Given the description of an element on the screen output the (x, y) to click on. 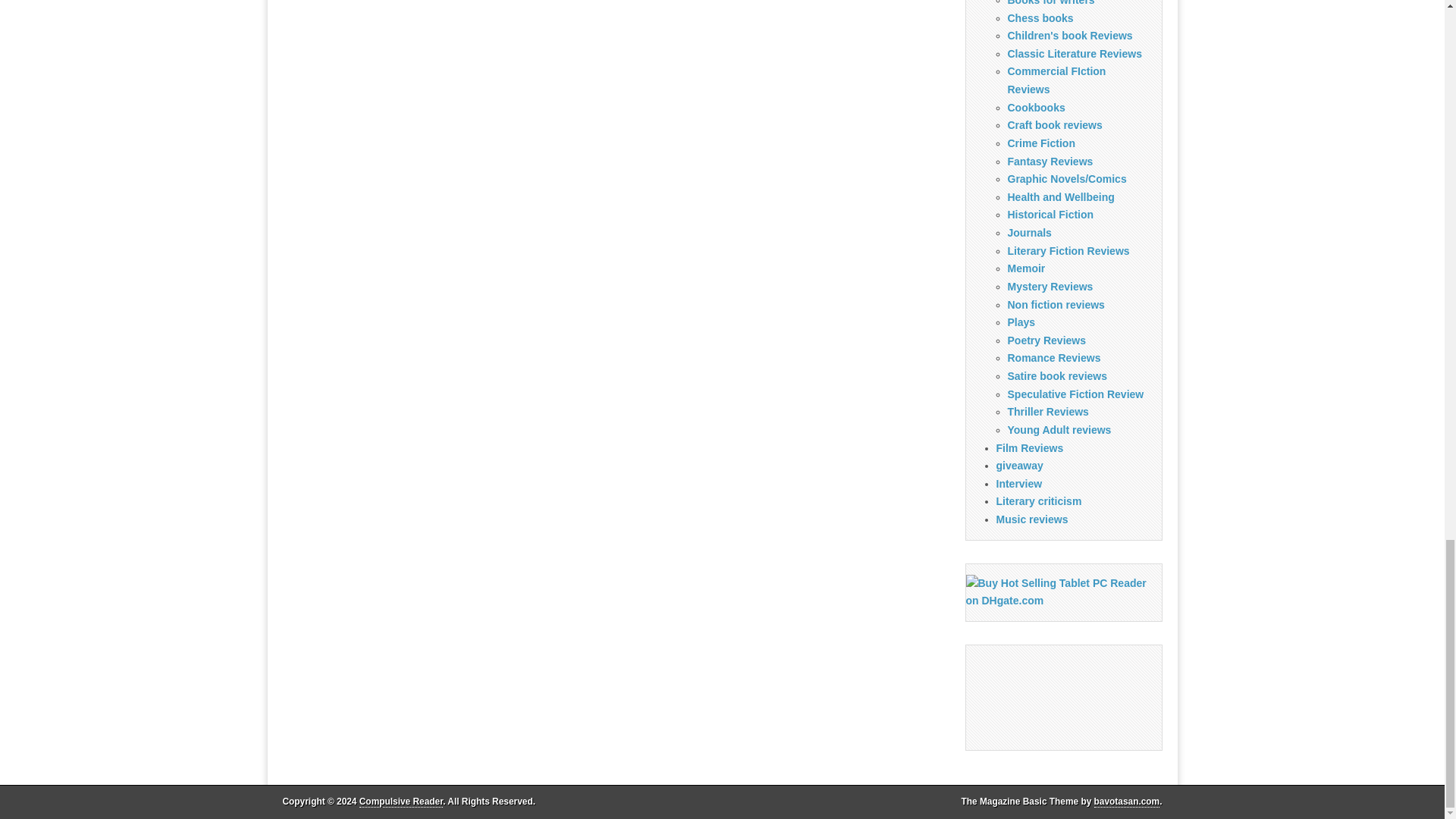
Books for writers (1050, 2)
Chess books (1040, 18)
Children's book Reviews (1069, 35)
Classic Literature Reviews (1074, 53)
